Given the description of an element on the screen output the (x, y) to click on. 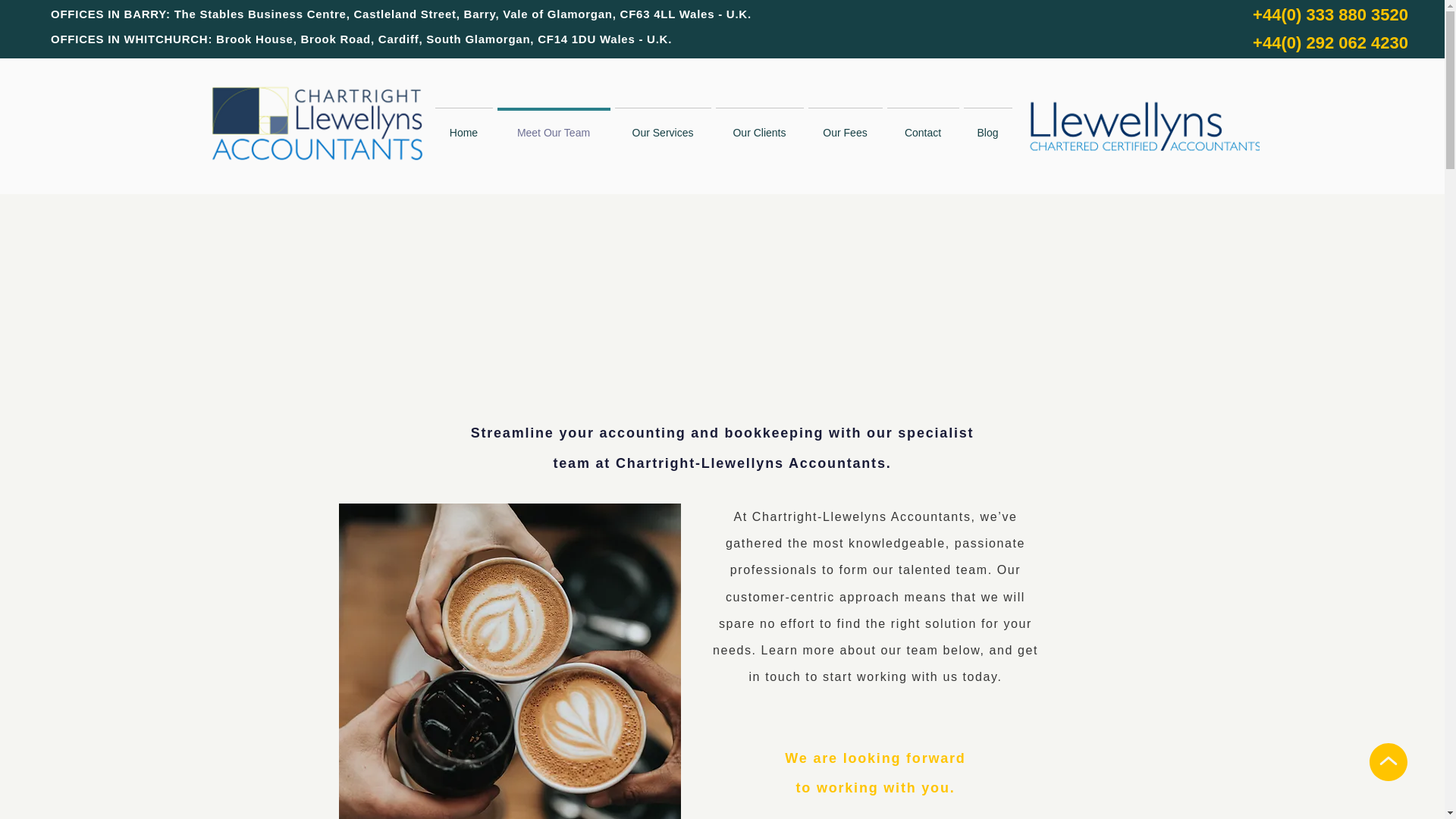
Our Services (662, 125)
Our Clients (759, 125)
Meet Our Team (553, 125)
Contact (921, 125)
Home (463, 125)
V3Logo.png (1143, 125)
Our Fees (844, 125)
Blog (987, 125)
292 062 4230 (1356, 42)
